Given the description of an element on the screen output the (x, y) to click on. 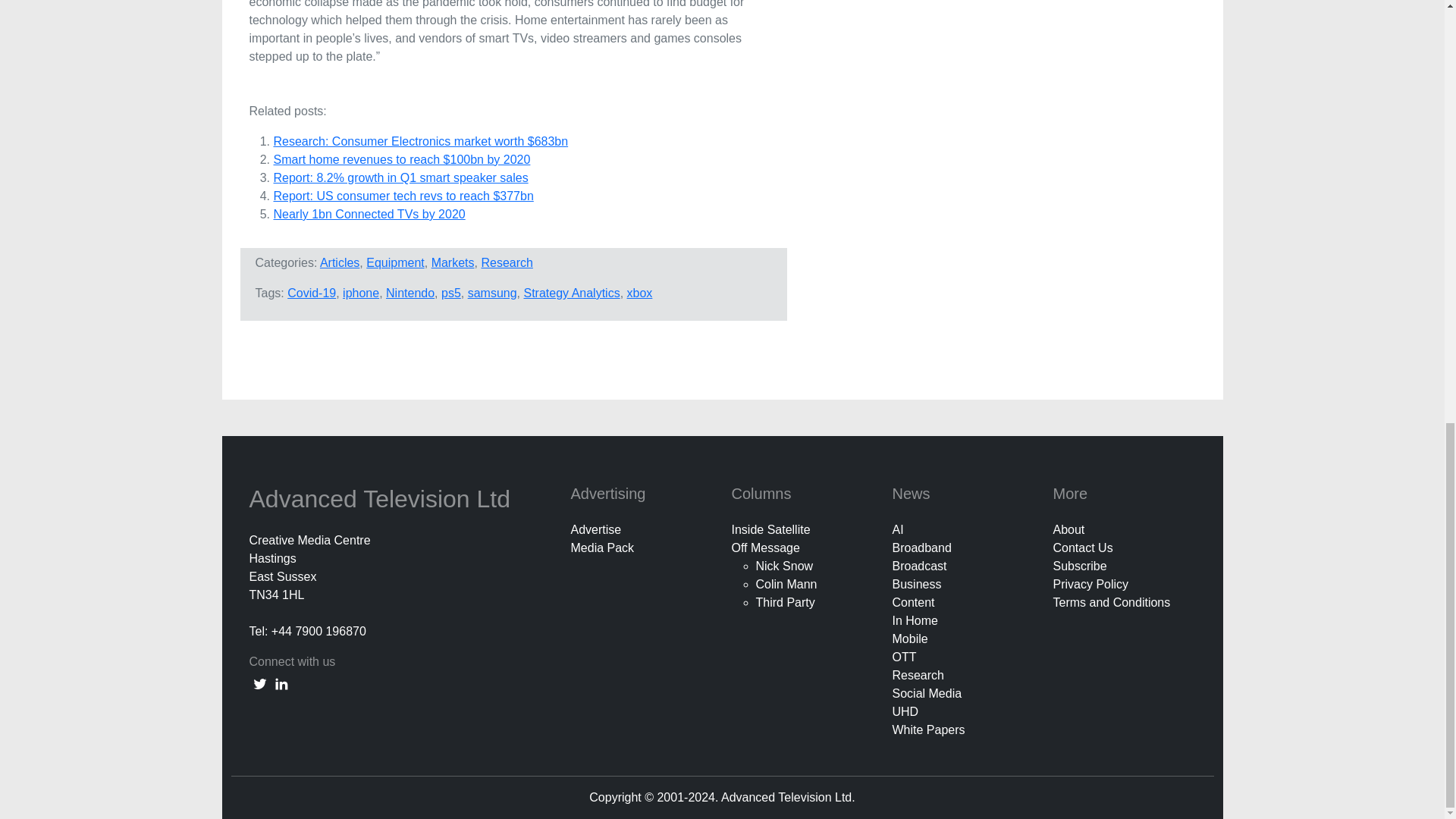
Nintendo (409, 292)
Nearly 1bn Connected TVs by 2020 (368, 214)
Covid-19 (311, 292)
Articles (339, 262)
Equipment (395, 262)
xbox (639, 292)
Strategy Analytics (571, 292)
ps5 (451, 292)
iphone (360, 292)
samsung (491, 292)
